Given the description of an element on the screen output the (x, y) to click on. 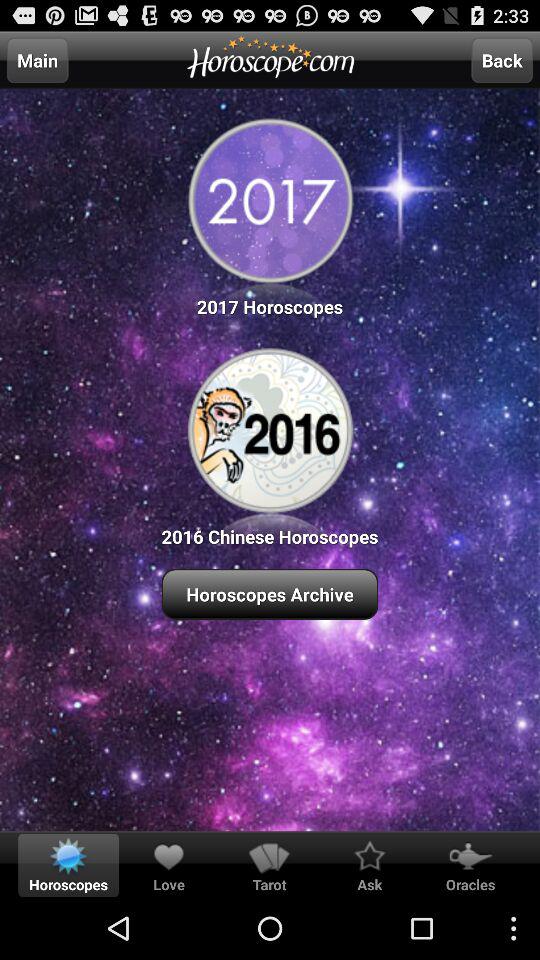
scroll to 2016 chinese horoscopes button (269, 443)
